Given the description of an element on the screen output the (x, y) to click on. 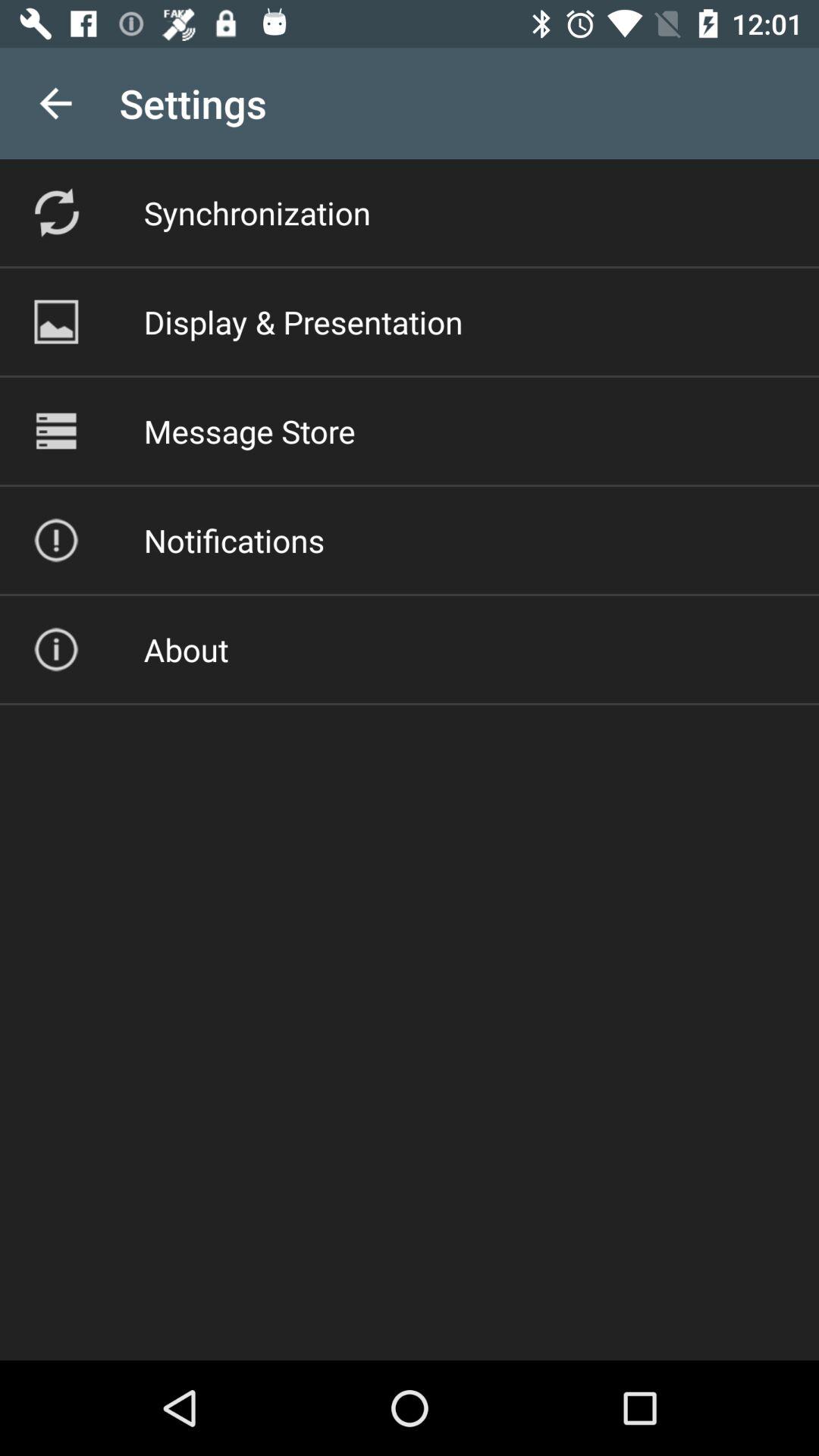
click on icon left to display  presentation (55, 321)
